Given the description of an element on the screen output the (x, y) to click on. 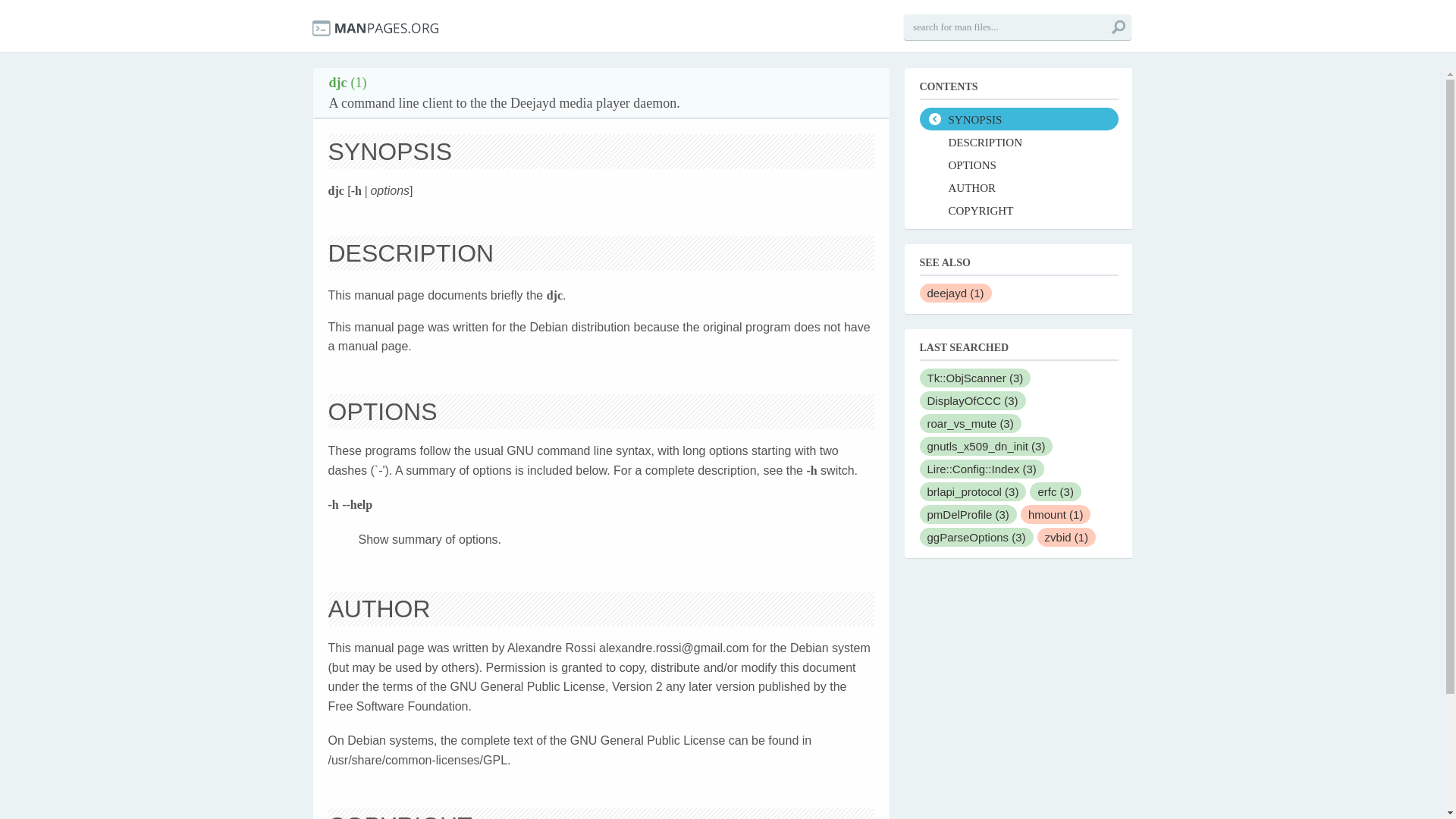
AUTHOR (1018, 187)
author (1018, 187)
OPTIONS (1018, 164)
DESCRIPTION (1018, 141)
SYNOPSIS (1018, 118)
synopsis (1018, 118)
COPYRIGHT (1018, 210)
copyright (1018, 210)
description (1018, 141)
options (1018, 164)
